Given the description of an element on the screen output the (x, y) to click on. 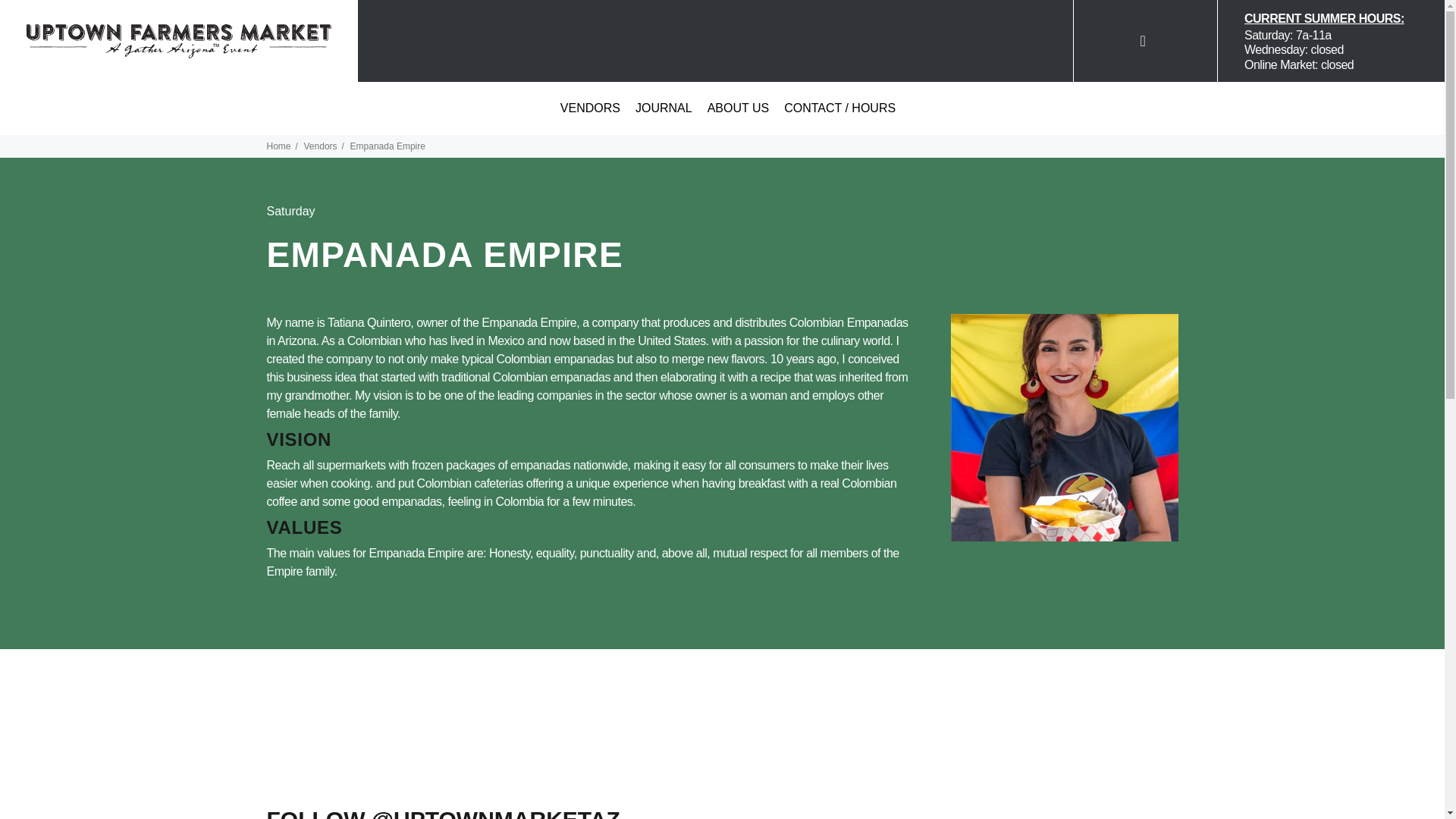
JOURNAL (663, 25)
VENDORS (590, 25)
ABOUT US (738, 25)
